Given the description of an element on the screen output the (x, y) to click on. 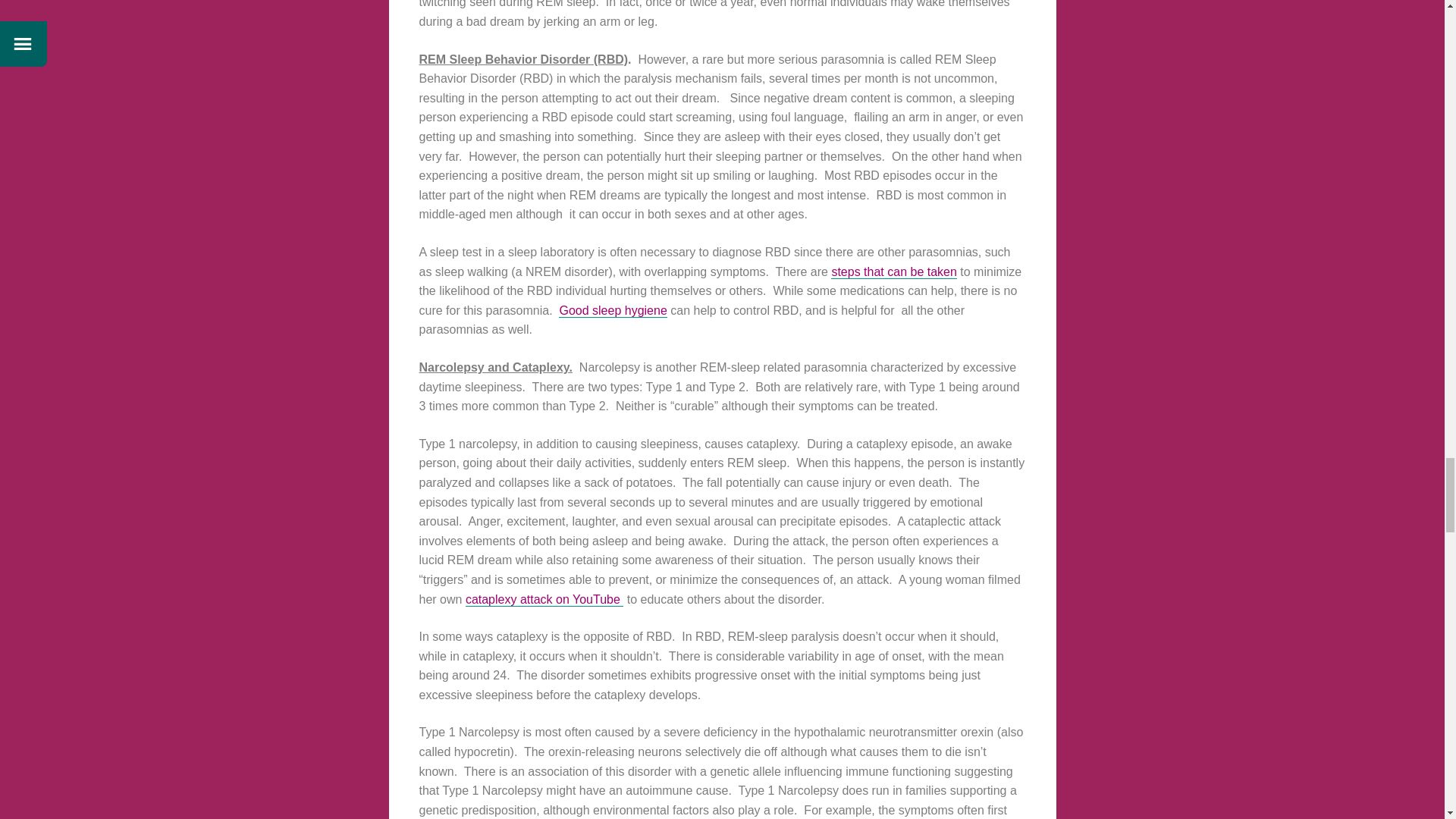
steps that can be taken (893, 272)
Good sleep hygiene (612, 310)
cataplexy attack on YouTube (544, 599)
